Given the description of an element on the screen output the (x, y) to click on. 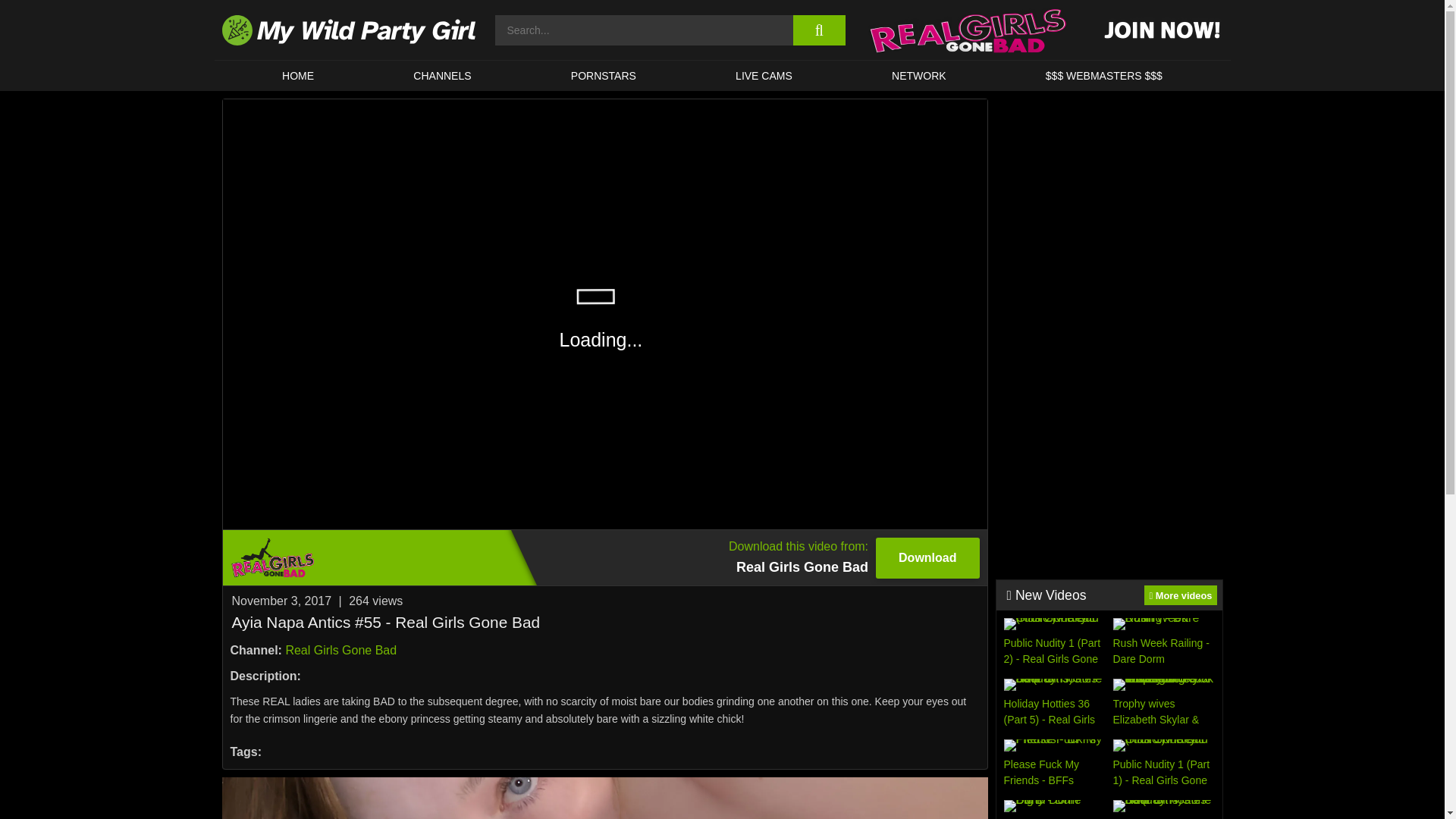
Real Girls Gone Bad (340, 649)
HOME (296, 75)
NETWORK (918, 75)
More videos (604, 557)
Rush Week Railing - Dare Dorm (1179, 595)
LIVE CAMS (1163, 642)
CHANNELS (763, 75)
PORNSTARS (442, 75)
